Given the description of an element on the screen output the (x, y) to click on. 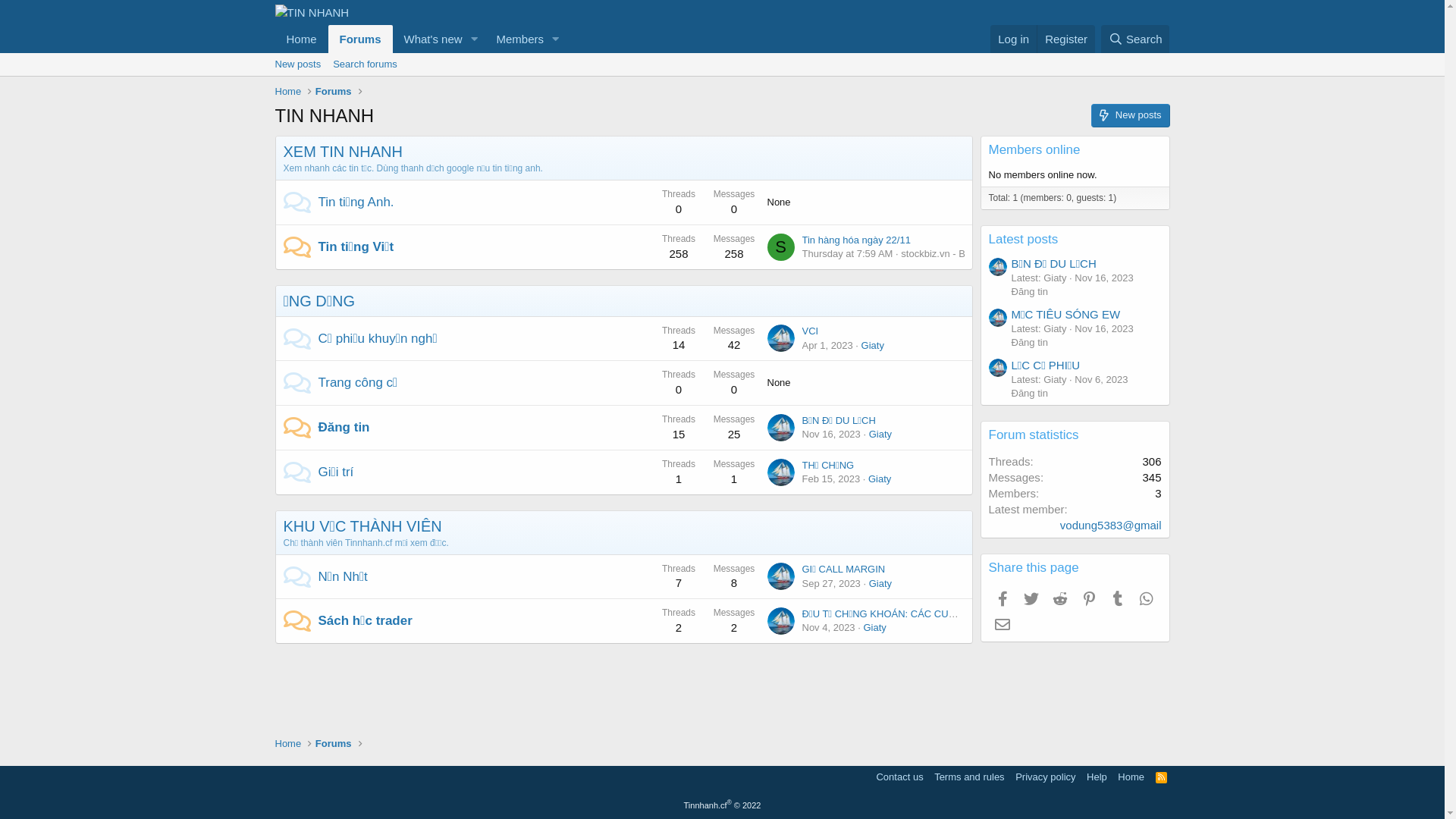
Log in Element type: text (1013, 39)
What's new Element type: text (428, 39)
RSS Element type: text (1161, 776)
Search Element type: text (1135, 39)
Giaty Element type: text (872, 345)
Giaty Element type: text (880, 433)
Members Element type: text (514, 39)
Home Element type: text (300, 39)
WhatsApp Element type: text (1145, 598)
Help Element type: text (1096, 776)
Giaty Element type: text (879, 478)
VCI Element type: text (810, 330)
Forums Element type: text (333, 743)
Privacy policy Element type: text (1045, 776)
Giaty Element type: text (880, 583)
New posts Element type: text (1129, 114)
Giaty Element type: text (873, 627)
Search forums Element type: text (364, 64)
Forums Element type: text (333, 91)
New posts Element type: text (297, 64)
Home Element type: text (1130, 776)
XEM TIN NHANH Element type: text (342, 151)
vodung5383@gmail Element type: text (1110, 524)
Register Element type: text (1065, 39)
Members online Element type: text (1034, 149)
Reddit Element type: text (1059, 598)
Twitter Element type: text (1030, 598)
Contact us Element type: text (898, 776)
Forums Element type: text (360, 39)
Email Element type: text (1001, 624)
Facebook Element type: text (1001, 598)
Tumblr Element type: text (1117, 598)
Home Element type: text (287, 91)
Pinterest Element type: text (1088, 598)
Latest posts Element type: text (1023, 239)
Terms and rules Element type: text (969, 776)
Home Element type: text (287, 743)
